Given the description of an element on the screen output the (x, y) to click on. 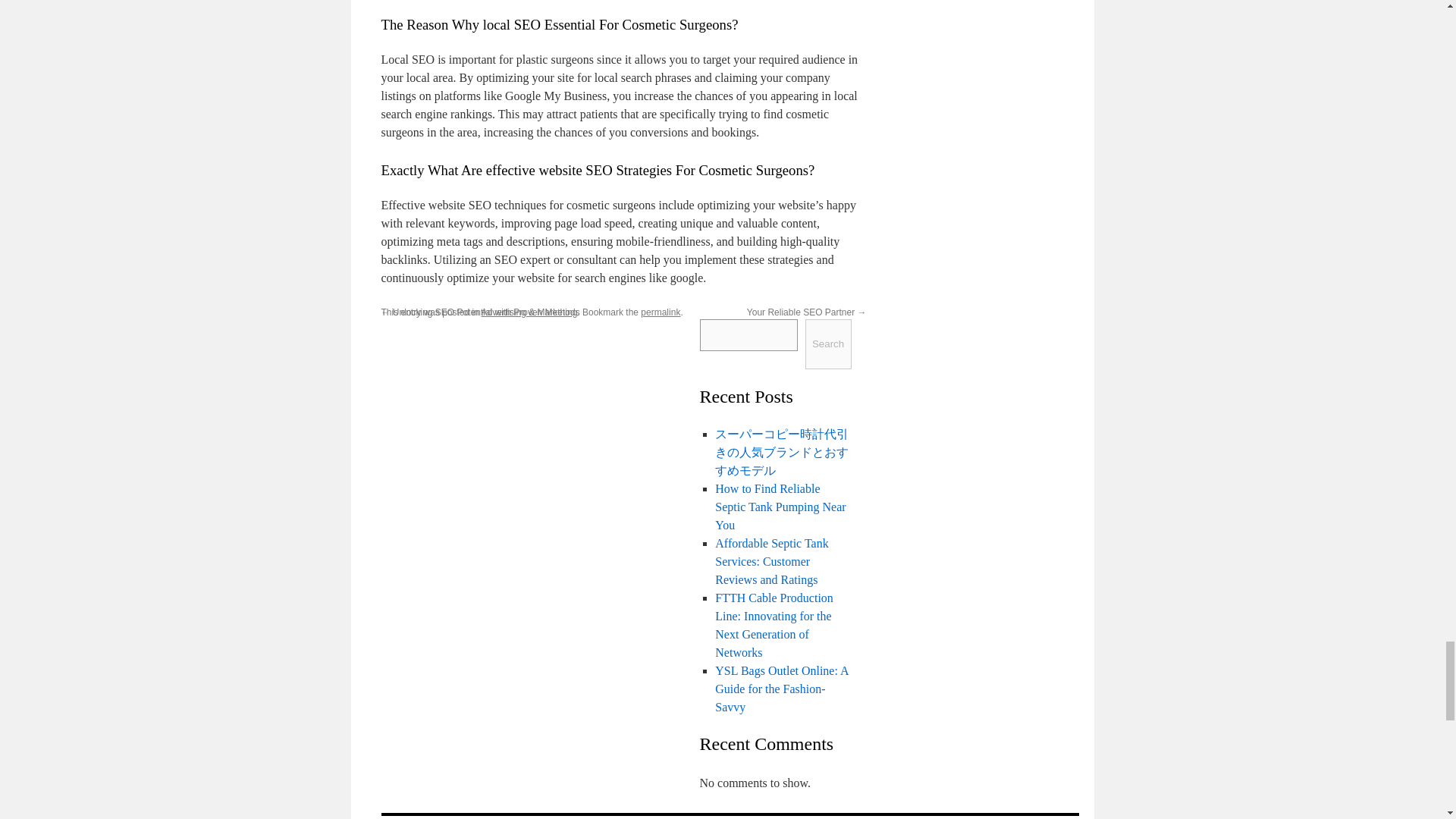
Permalink to Unparalleled Cosmetic Surgery SEO (659, 312)
Search (828, 344)
permalink (659, 312)
YSL Bags Outlet Online: A Guide for the Fashion-Savvy (780, 688)
How to Find Reliable Septic Tank Pumping Near You (779, 506)
